Given the description of an element on the screen output the (x, y) to click on. 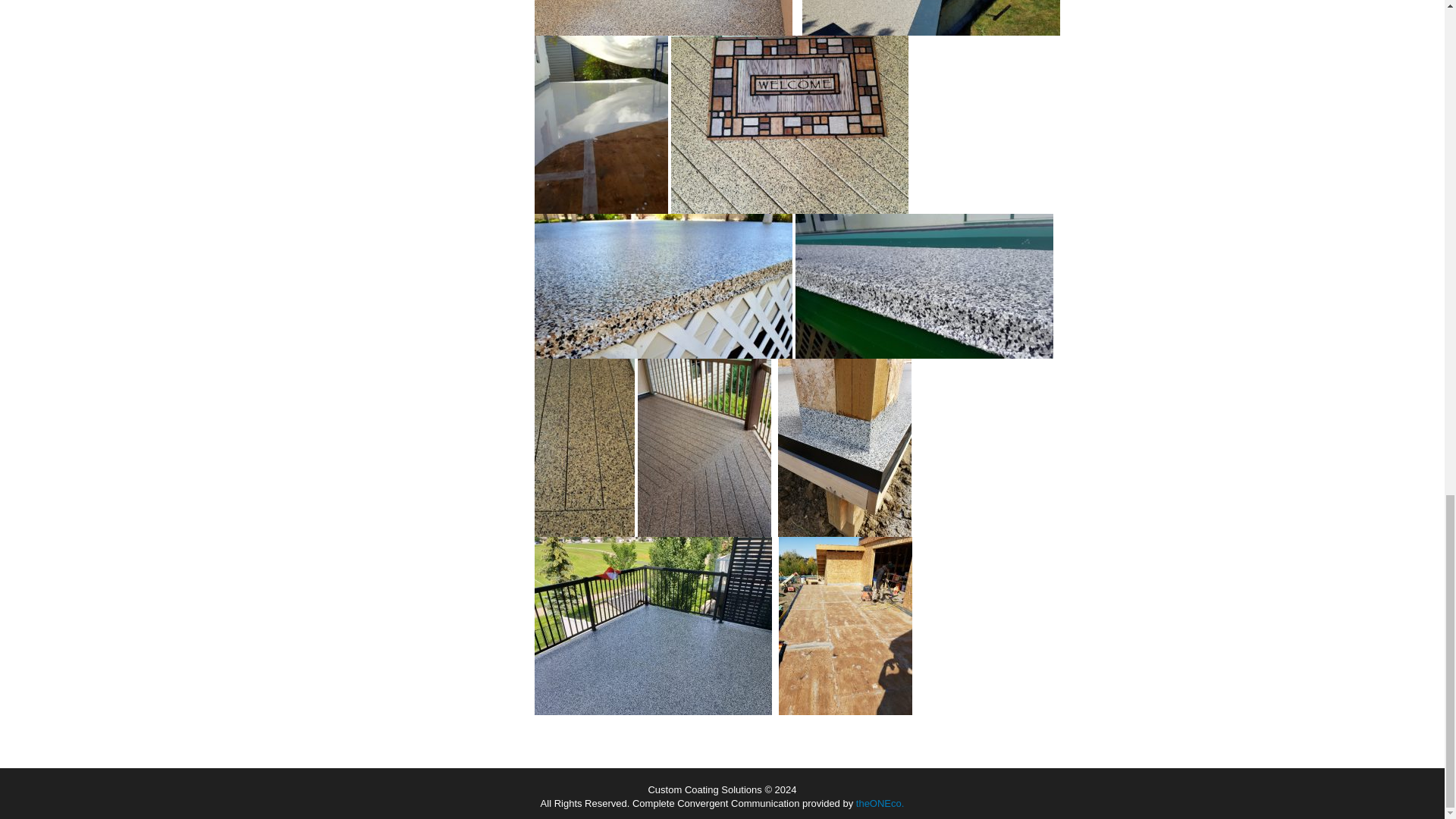
theONEco. (880, 803)
